Given the description of an element on the screen output the (x, y) to click on. 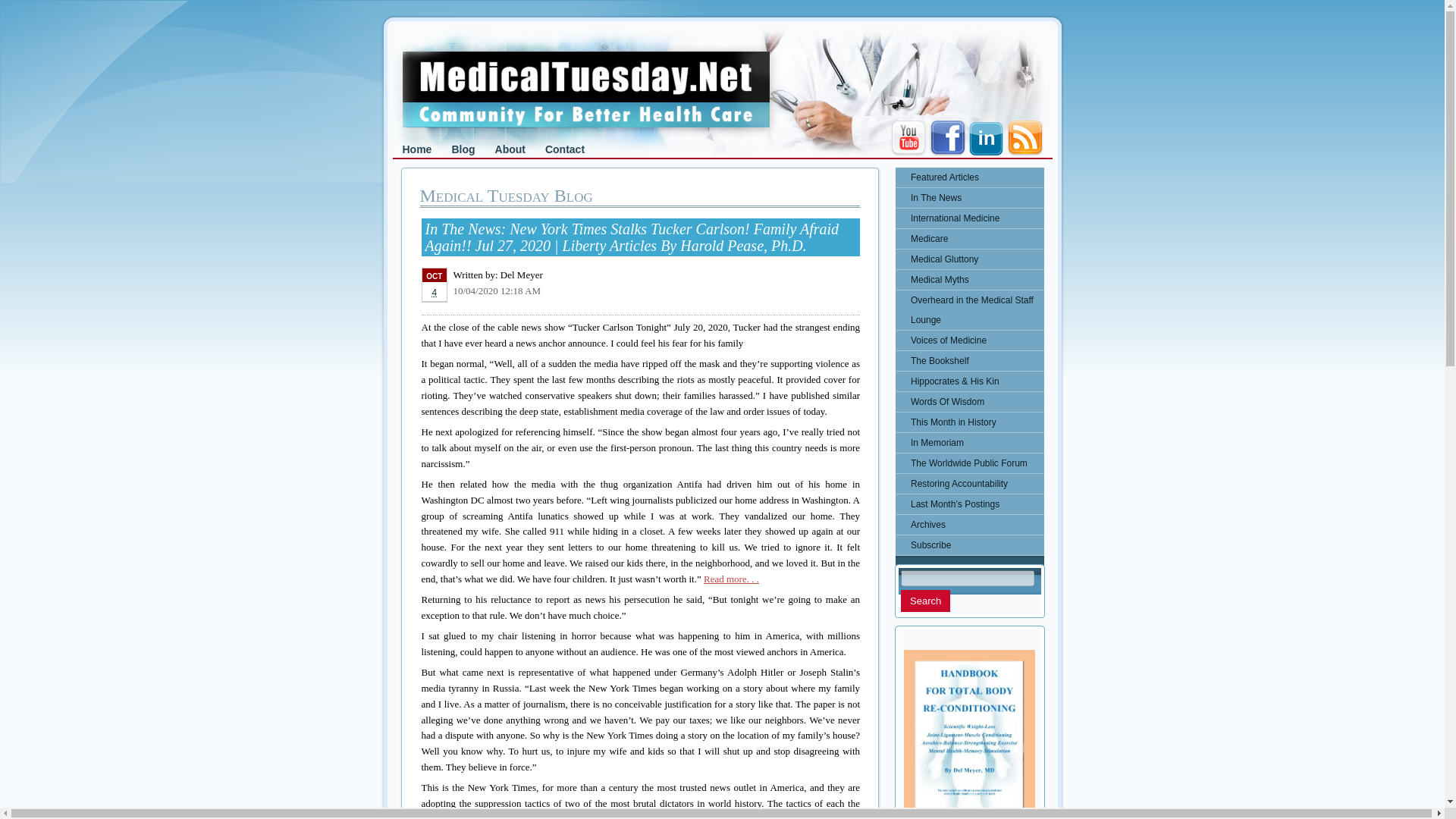
International Medicine (969, 218)
Words Of Wisdom (969, 401)
About (509, 148)
Medical Gluttony (969, 259)
Restoring Accountability (969, 483)
In The News (969, 198)
Subscribe (969, 545)
The Worldwide Public Forum (969, 463)
In Memoriam (969, 442)
Home (417, 148)
